Given the description of an element on the screen output the (x, y) to click on. 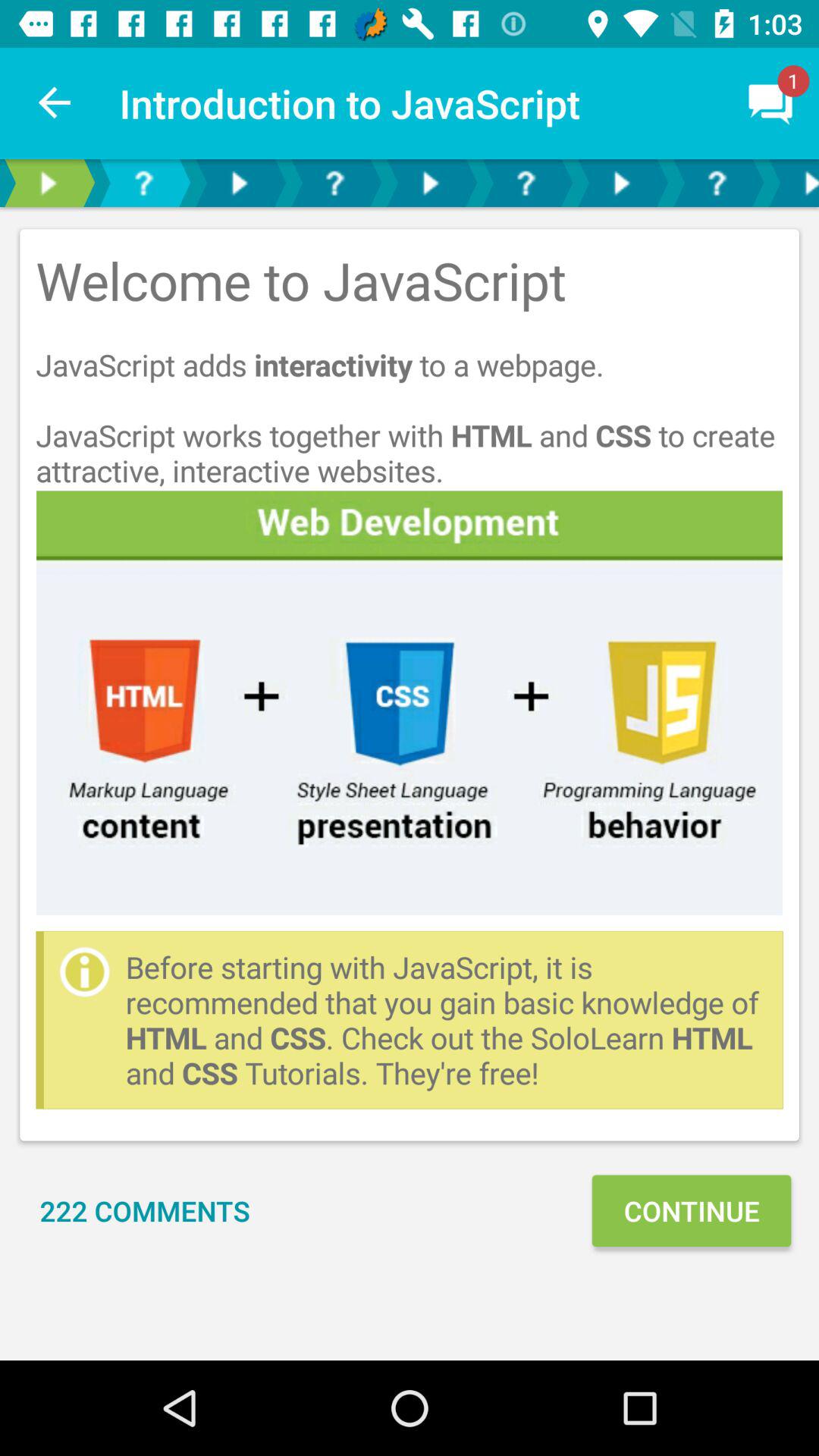
click play (620, 183)
